Given the description of an element on the screen output the (x, y) to click on. 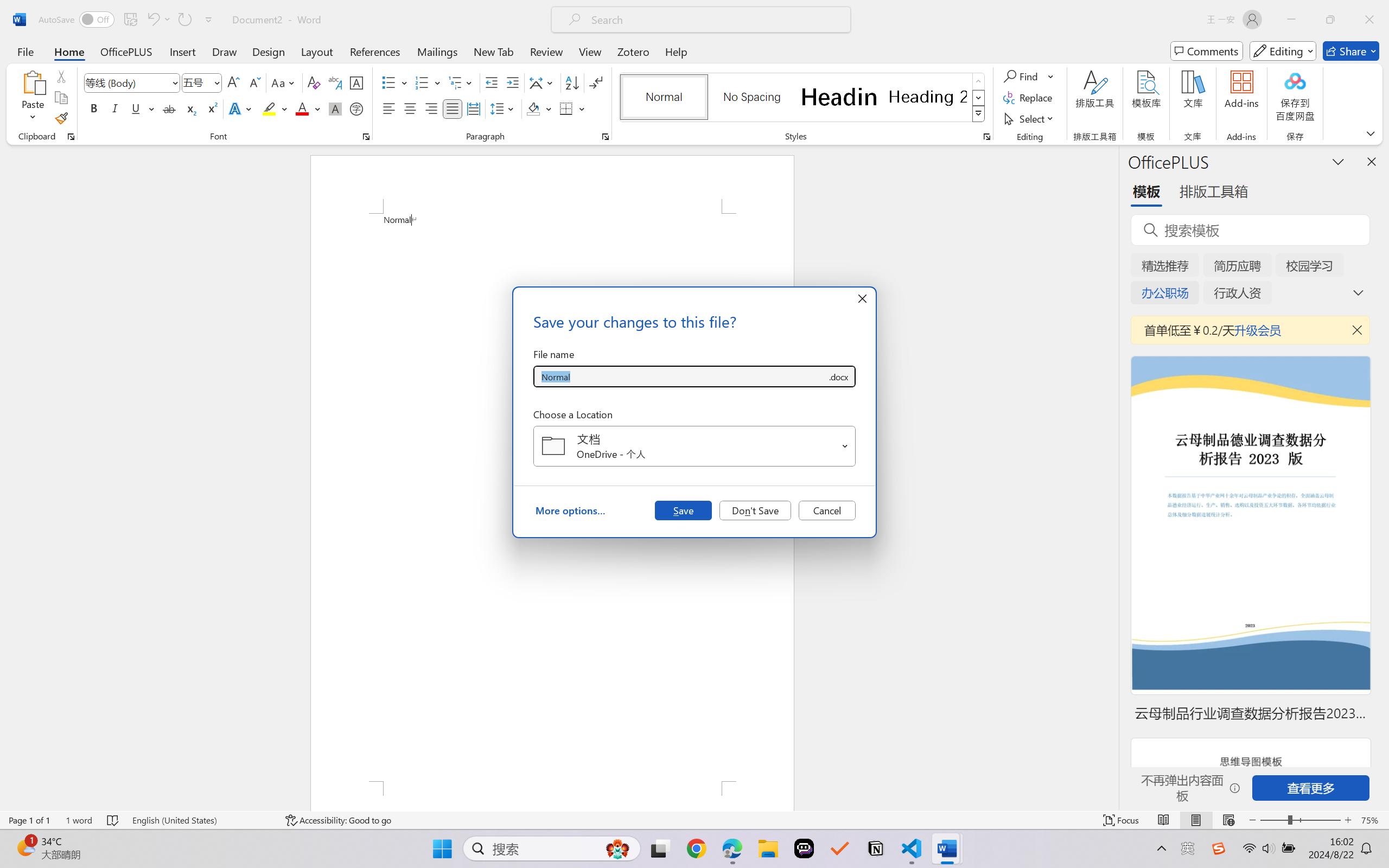
Layout (316, 51)
Class: MsoCommandBar (694, 819)
Repeat Style (184, 19)
Save (682, 509)
Enclose Characters... (356, 108)
Row Down (978, 97)
Draw (224, 51)
Grow Font (233, 82)
Web Layout (1228, 819)
